Given the description of an element on the screen output the (x, y) to click on. 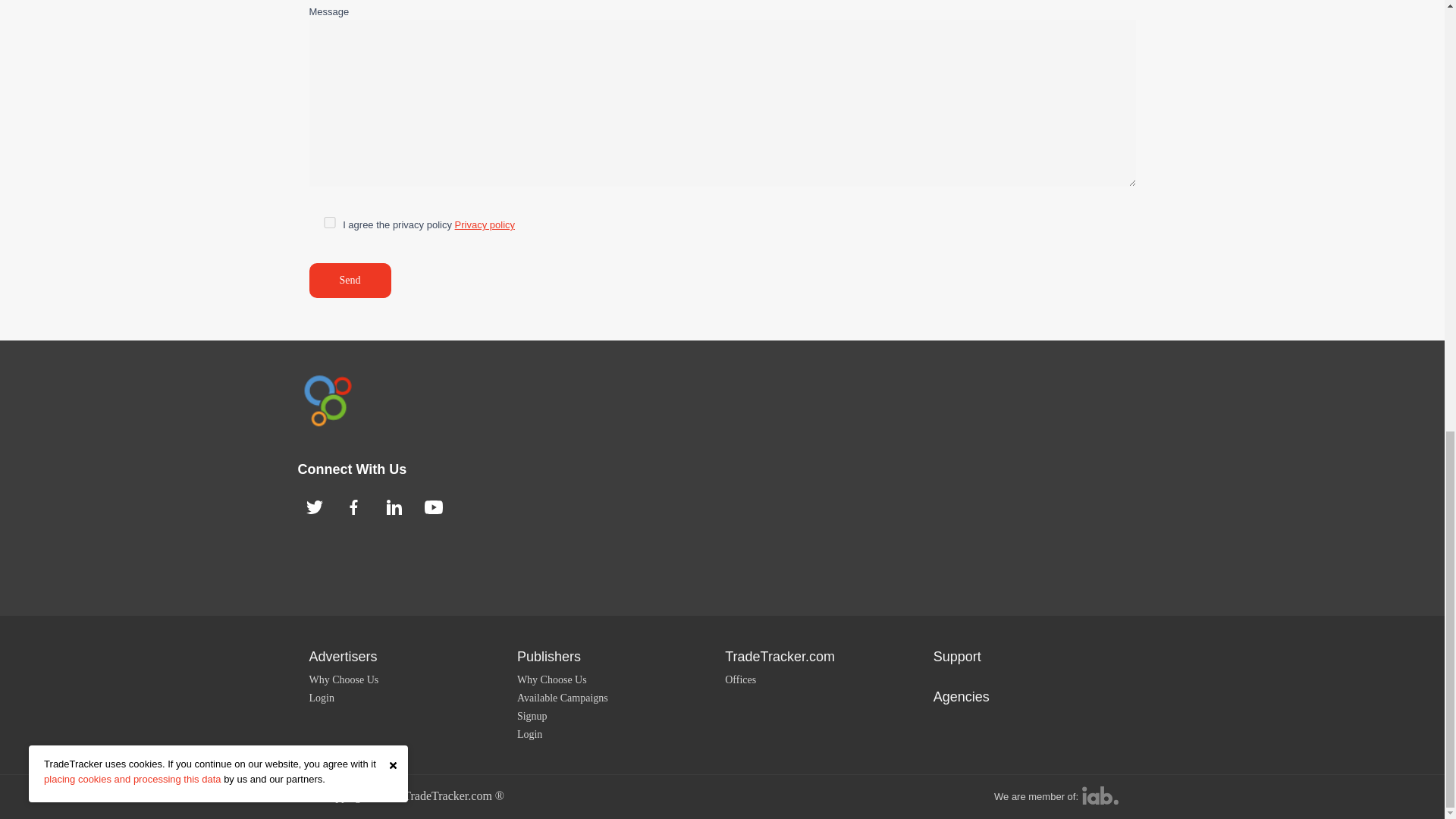
Send (349, 280)
Why Choose Us (343, 679)
Signup (531, 715)
Offices (740, 679)
Why Choose Us (551, 679)
Available Campaigns (562, 697)
Login (528, 734)
TradeTracker on YouTube (433, 506)
TradeTracker on Twitter (313, 506)
Iab.net (1099, 795)
